Given the description of an element on the screen output the (x, y) to click on. 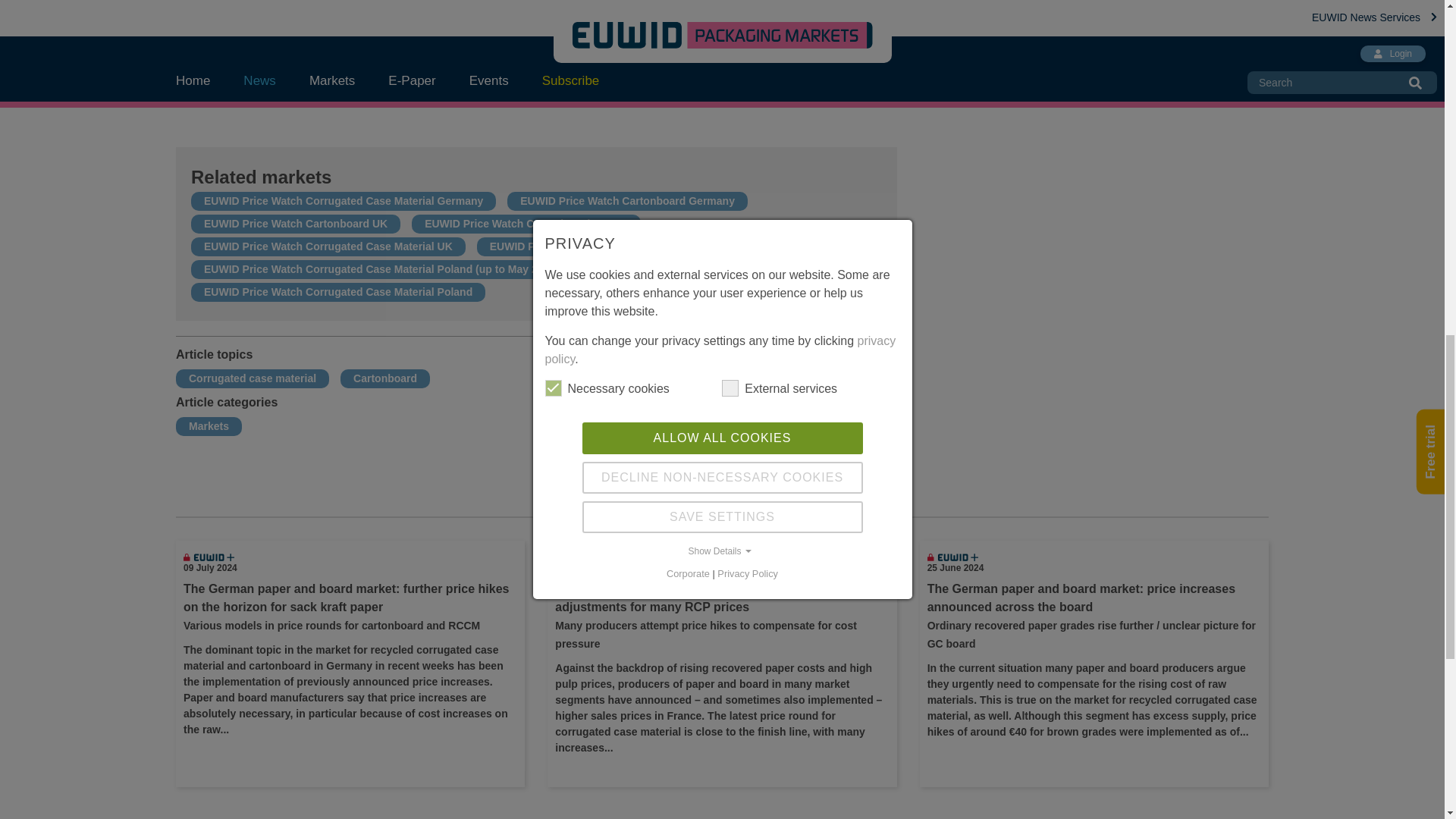
Markets (208, 426)
EUWID Price Watch Corrugated Case Material Poland (337, 291)
EUWID Price Watch Corrugated Case Material Germany (343, 200)
Cartonboard (384, 378)
EUWID Price Watch Cartonboard Poland (697, 268)
Corrugated case material (252, 378)
EUWID Price Watch Cartonboard France (526, 223)
EUWID Price Watch Cartonboard Germany (627, 200)
EUWID Price Watch Corrugated Case Material UK (327, 246)
EUWID Price Watch Cartonboard UK (295, 223)
EUWID Price Watch Corrugated Case Material France (623, 246)
